Given the description of an element on the screen output the (x, y) to click on. 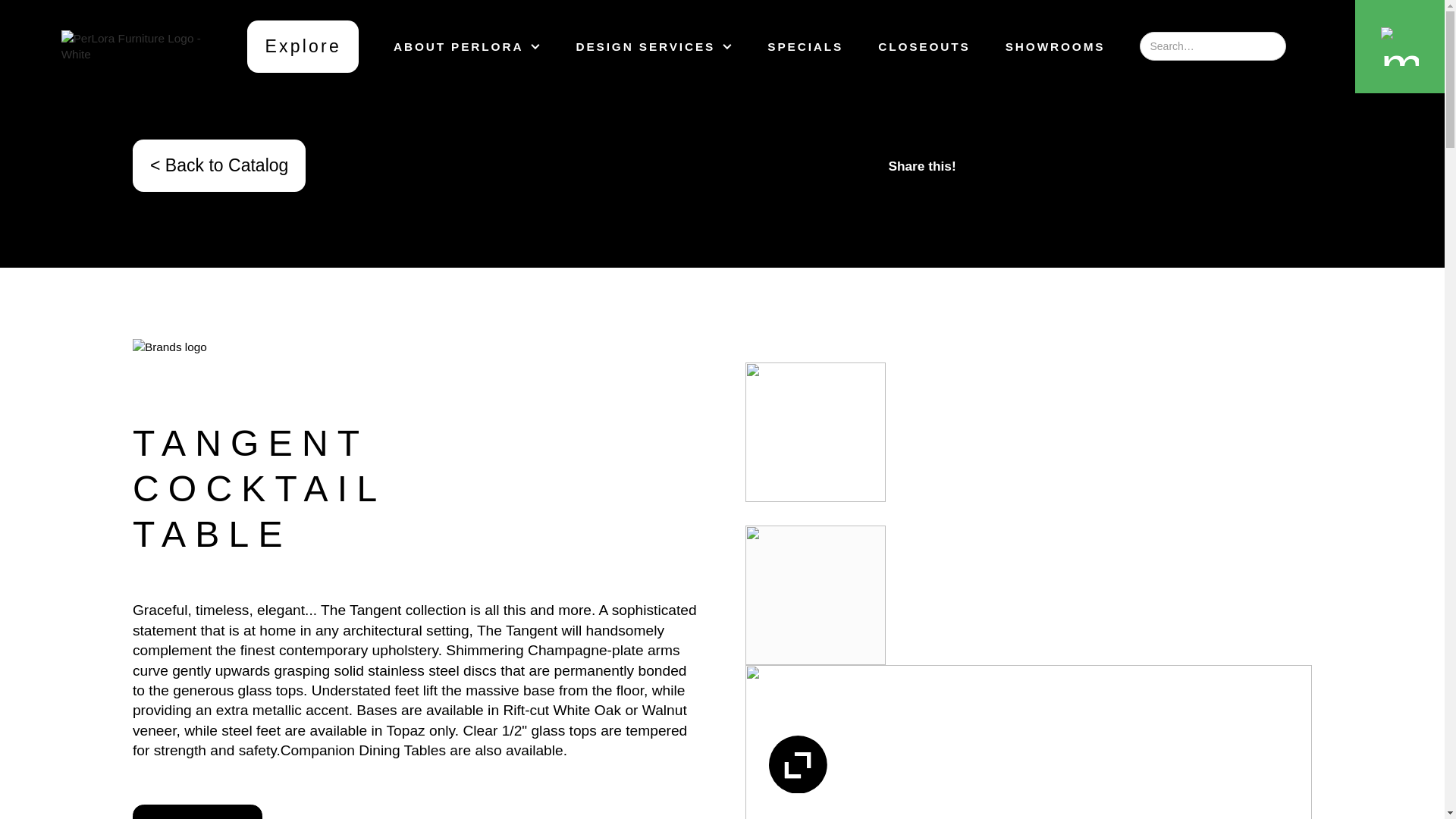
SHOWROOMS (1055, 46)
DESIGN SERVICES (653, 46)
Inquire (197, 811)
Explore (302, 46)
CLOSEOUTS (924, 46)
SPECIALS (805, 46)
ABOUT PERLORA (466, 46)
